Given the description of an element on the screen output the (x, y) to click on. 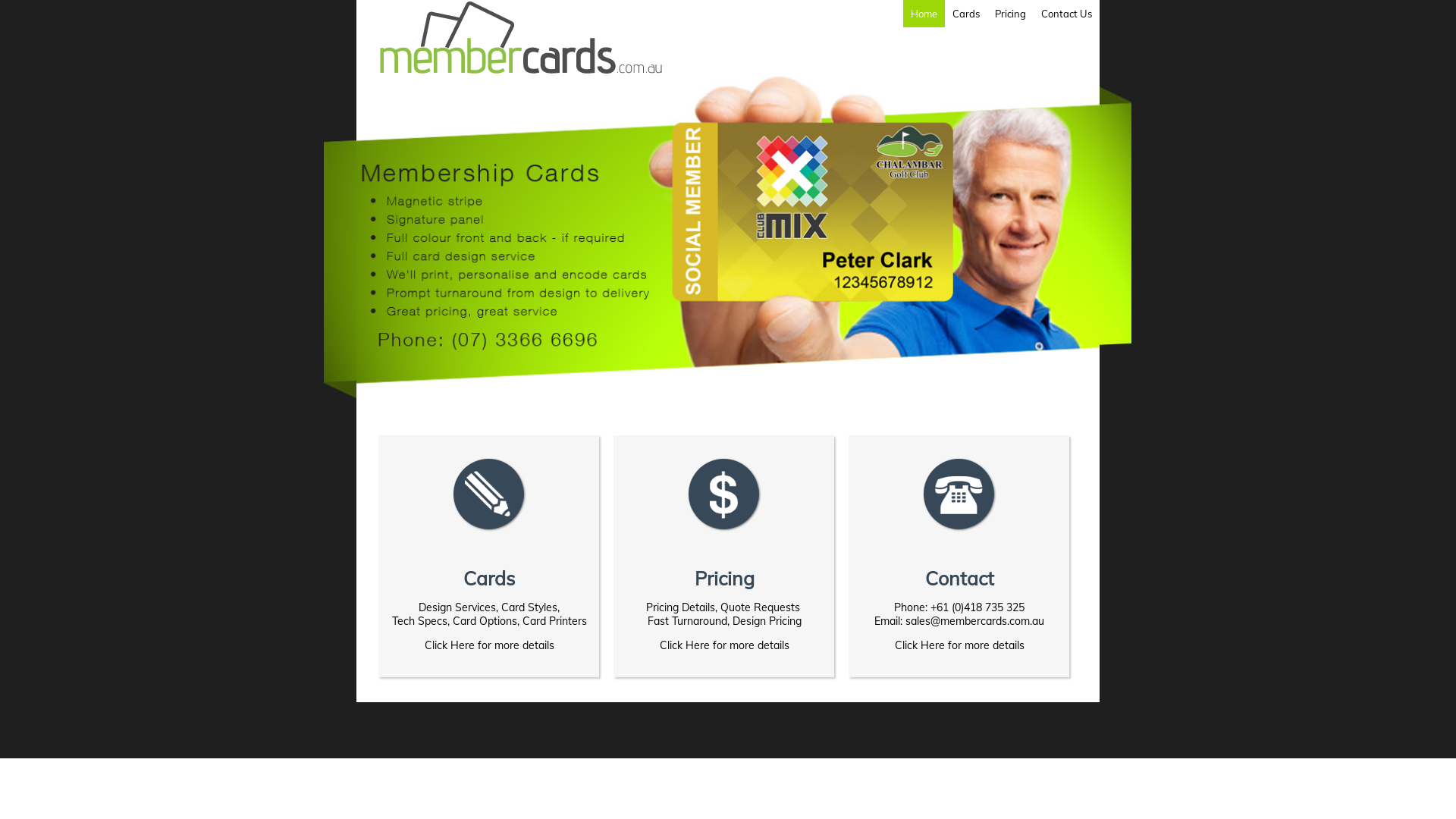
Home Element type: text (923, 13)
Pricing Element type: text (1010, 13)
Cards Element type: text (965, 13)
sales@membercards.com.au Element type: text (974, 620)
Click Here for more details Element type: text (959, 645)
Contact Us Element type: text (1066, 13)
Click Here for more details Element type: text (724, 645)
Click Here for more details Element type: text (489, 645)
